Given the description of an element on the screen output the (x, y) to click on. 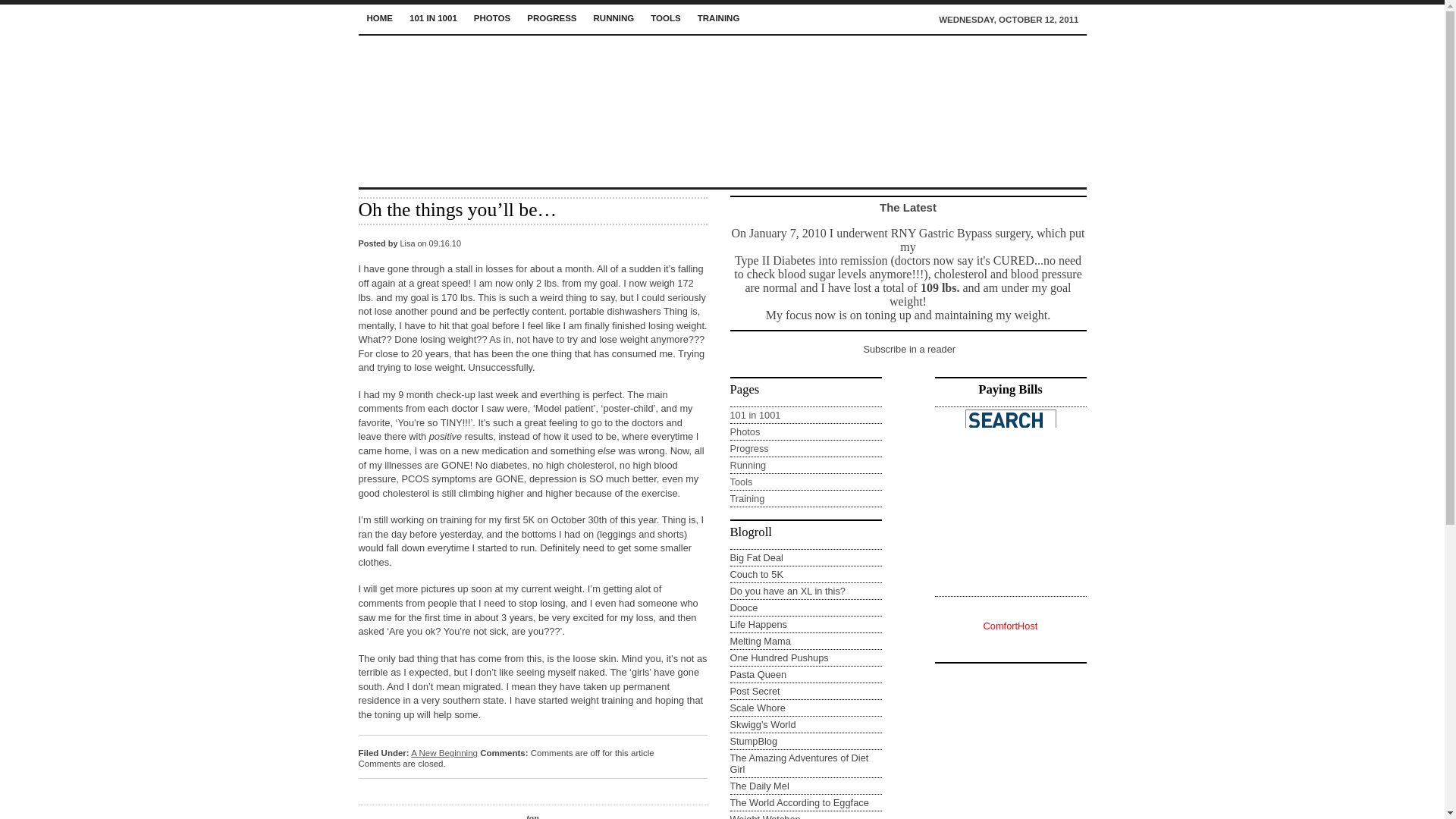
Photos (744, 431)
101 in 1001 (433, 17)
TOOLS (665, 17)
101 in 1001 (754, 414)
Running (747, 464)
Training (718, 17)
Photos (491, 17)
A New Beginning (443, 752)
TRAINING (718, 17)
Running (614, 17)
